Given the description of an element on the screen output the (x, y) to click on. 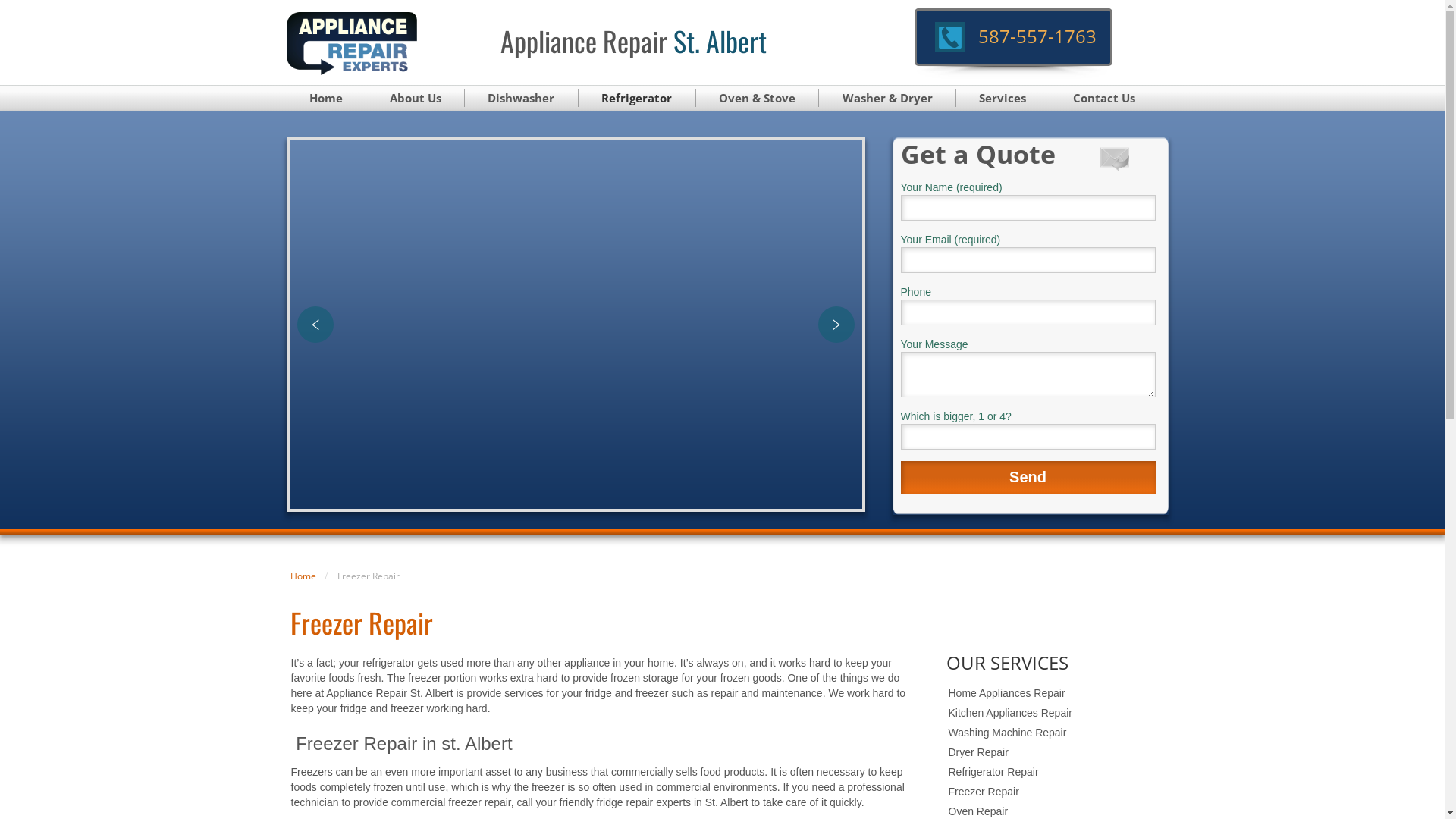
Dryer Repair Element type: text (1052, 752)
About Us Element type: text (415, 97)
Washer & Dryer Element type: text (887, 97)
587-557-1763 Element type: text (1037, 35)
Oven & Stove Element type: text (757, 97)
Refrigerator Element type: text (637, 97)
Freezer Repair Element type: text (1052, 791)
Services Element type: text (1003, 97)
Home Appliances Repair Element type: text (1052, 692)
Home Element type: text (302, 575)
Send Element type: text (1027, 477)
Kitchen Appliances Repair Element type: text (1052, 712)
Dishwasher Element type: text (521, 97)
Refrigerator Repair Element type: text (1052, 771)
Contact Us Element type: text (1104, 97)
Home Element type: text (326, 97)
Washing Machine Repair Element type: text (1052, 732)
